Given the description of an element on the screen output the (x, y) to click on. 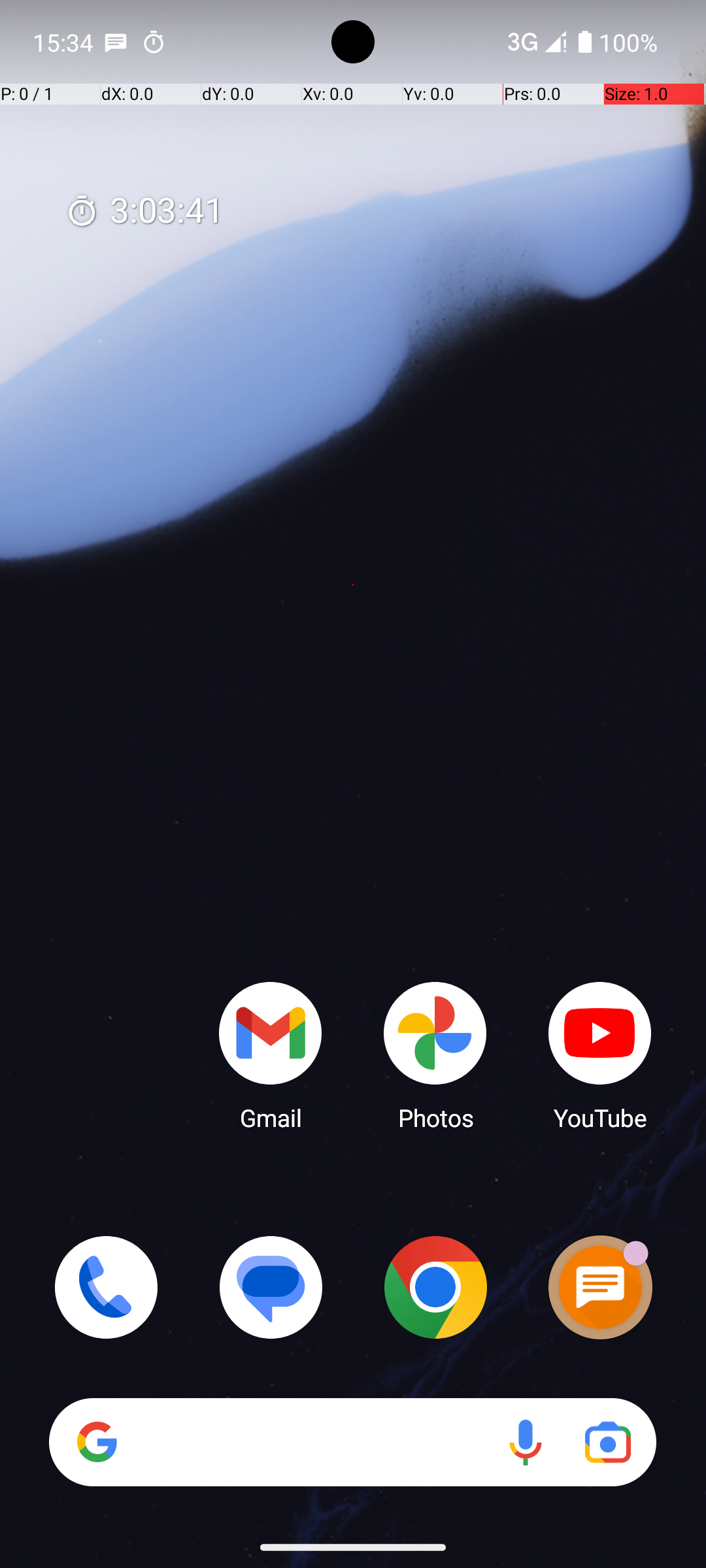
3:03:41 Element type: android.widget.TextView (144, 210)
